Given the description of an element on the screen output the (x, y) to click on. 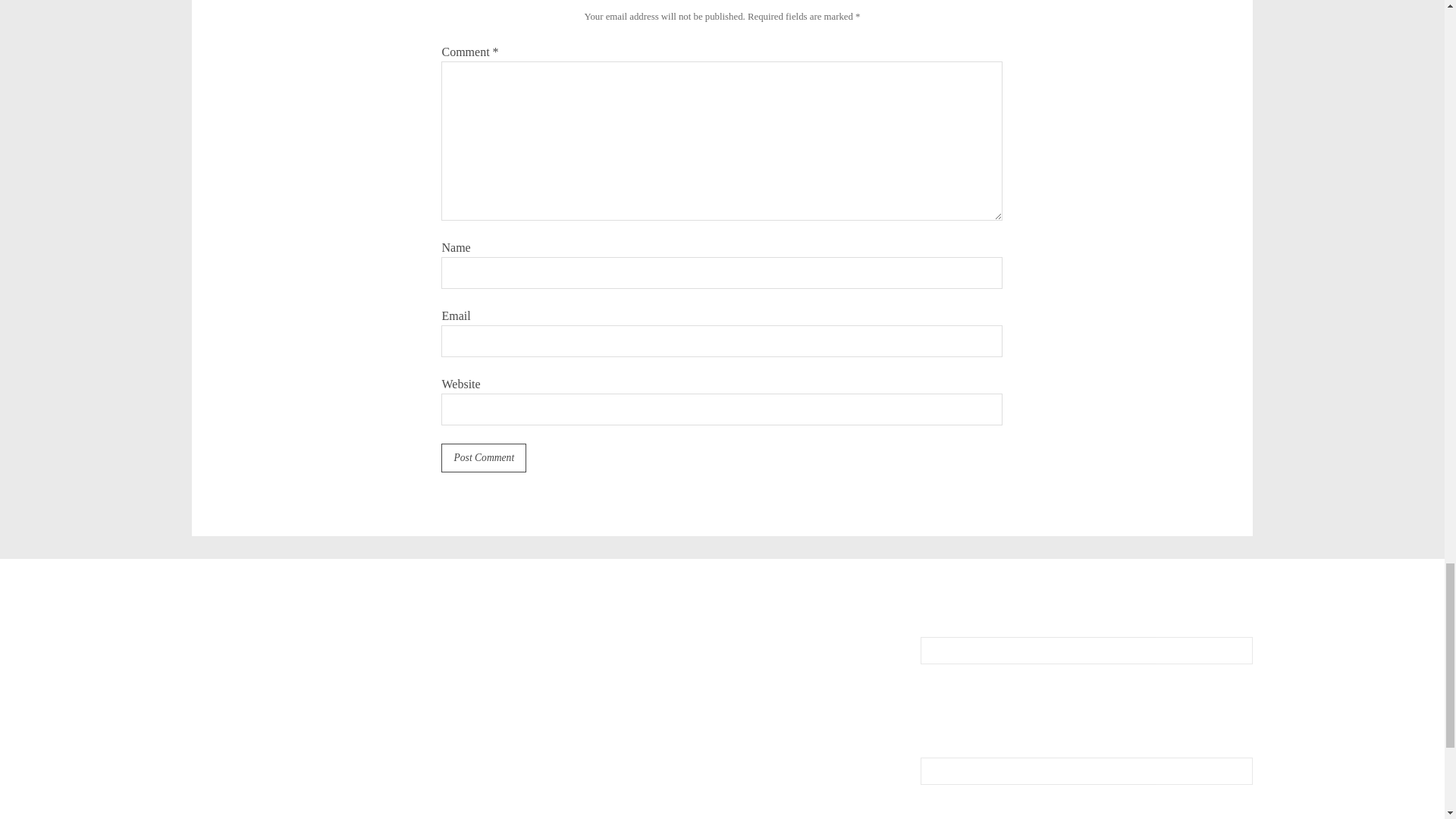
Post Comment (483, 457)
